Given the description of an element on the screen output the (x, y) to click on. 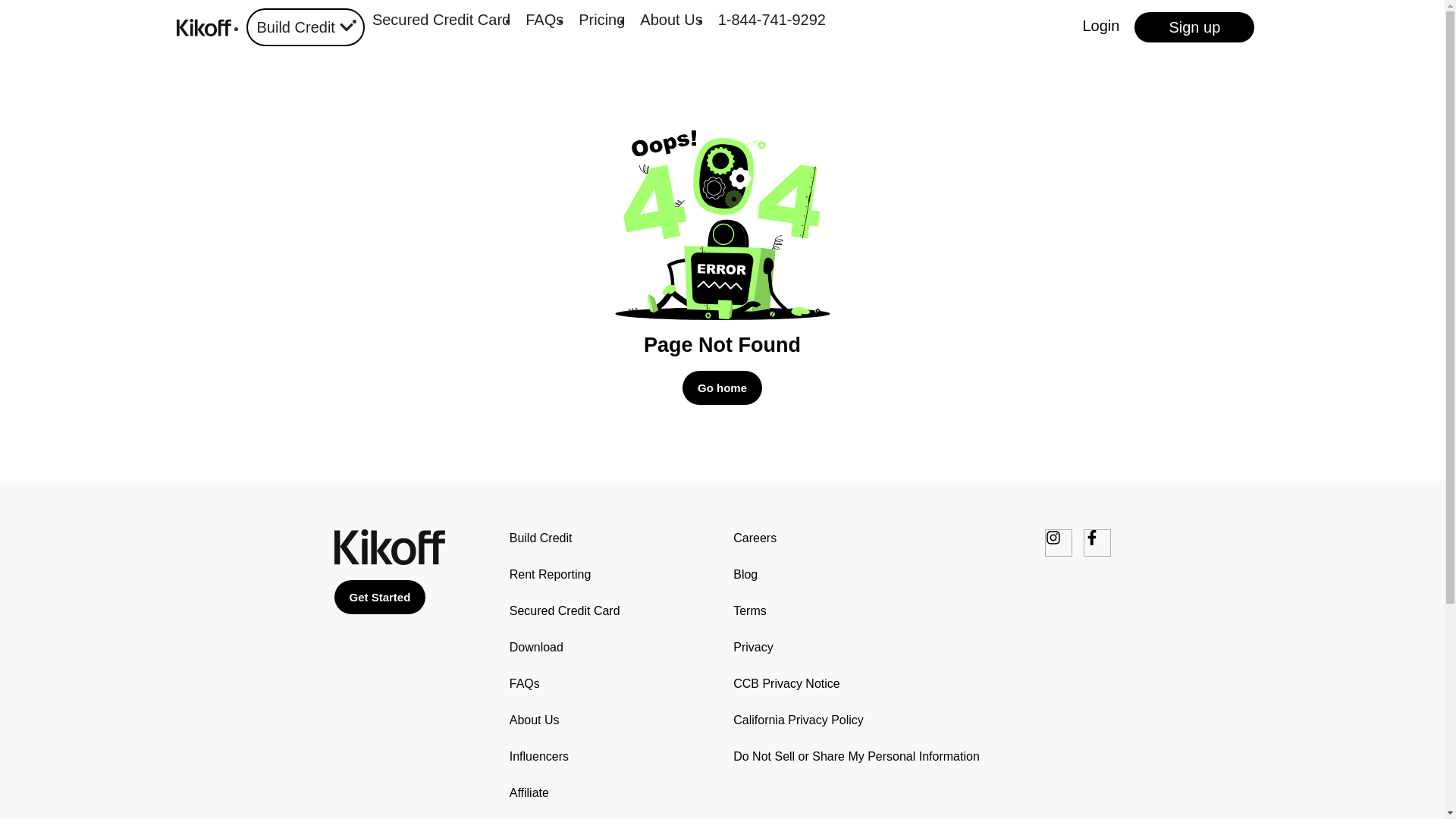
Secured Credit Card (441, 19)
Build Credit (564, 538)
FAQs (564, 683)
About Us (564, 720)
FAQs (544, 19)
Secured Credit Card (564, 610)
Sign up (1193, 27)
Download (564, 647)
Rent Reporting (564, 574)
About Us (670, 19)
